Given the description of an element on the screen output the (x, y) to click on. 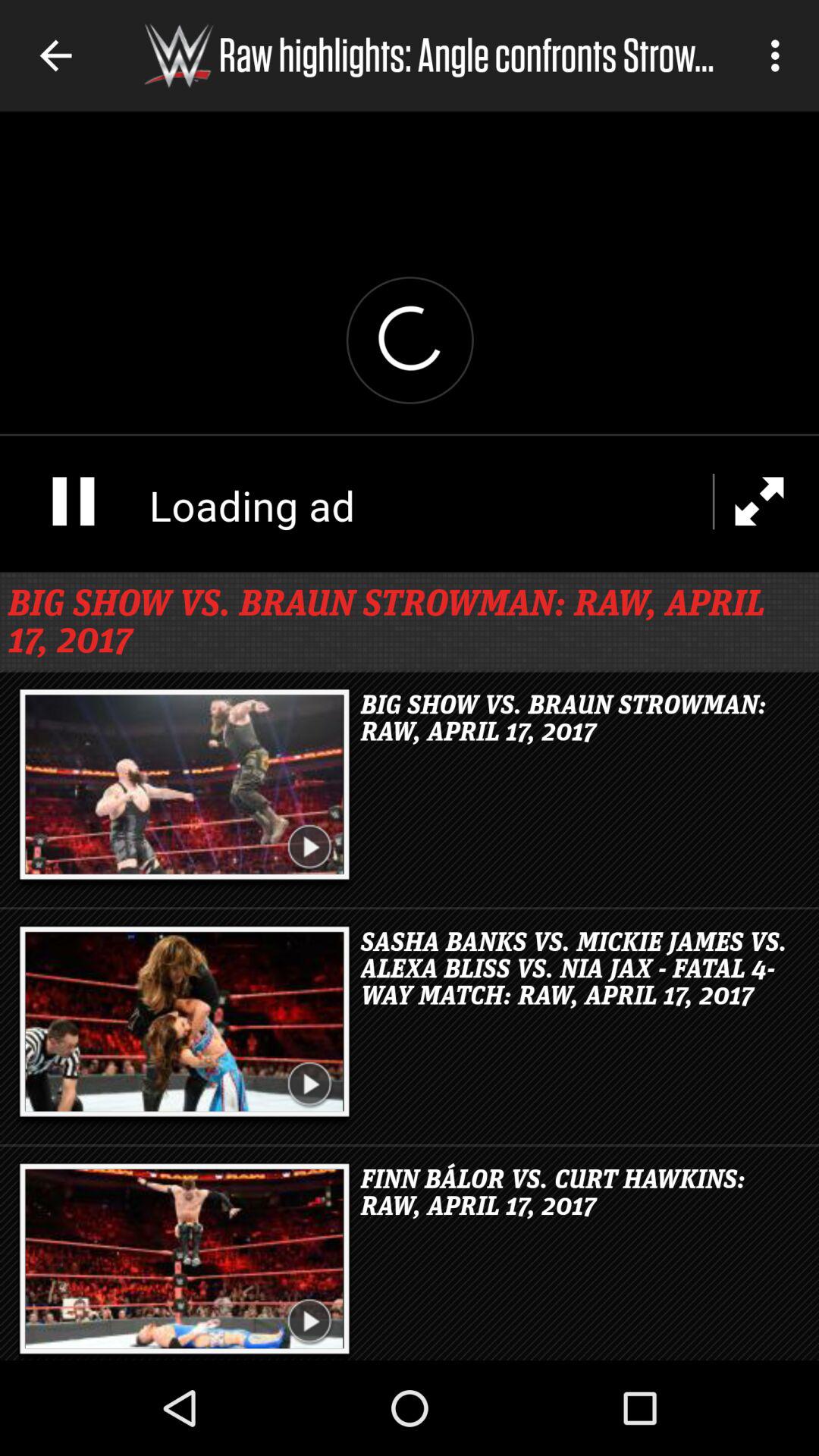
video streaming (409, 341)
